Given the description of an element on the screen output the (x, y) to click on. 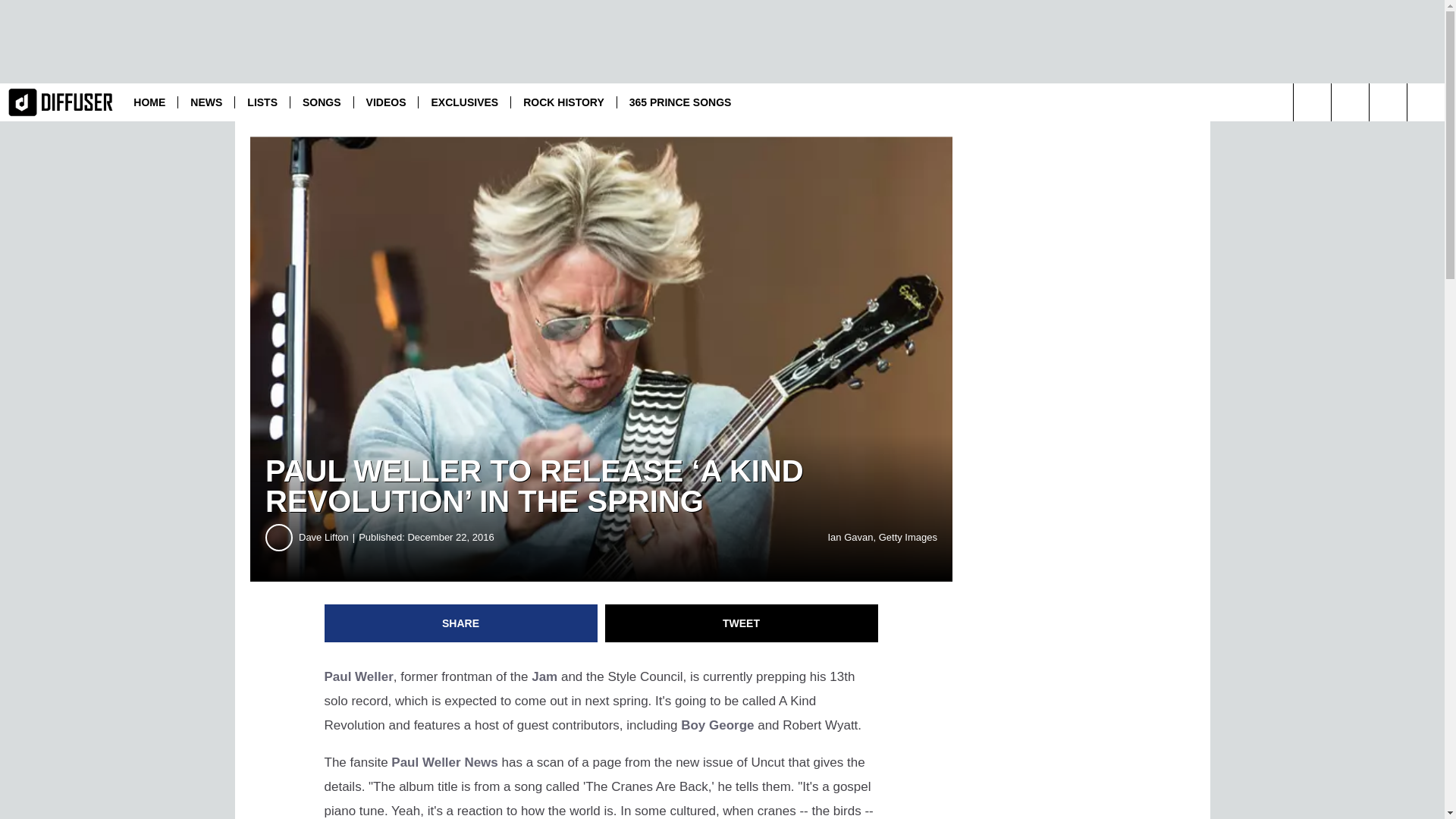
Visit us on Facebook (1388, 102)
NEWS (205, 102)
TWEET (741, 623)
SONGS (321, 102)
HOME (148, 102)
Paul Weller News (444, 762)
Boy George (717, 725)
EXCLUSIVES (464, 102)
LISTS (261, 102)
VIDEOS (386, 102)
